Given the description of an element on the screen output the (x, y) to click on. 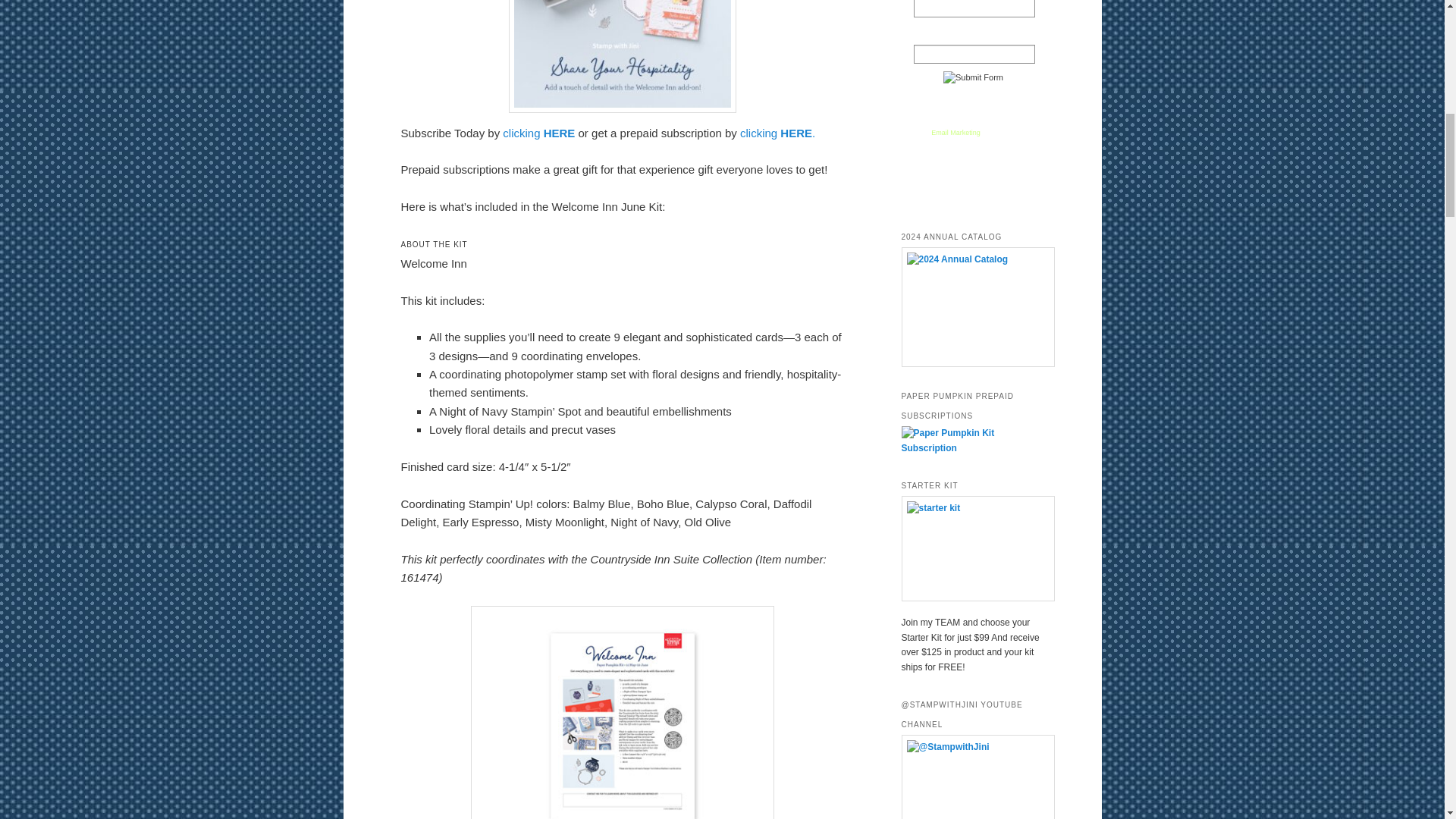
Email Marketing (955, 132)
2024 Annual Catalog  (972, 306)
starter kit (972, 548)
HERE (559, 132)
Paper Pumpkin Prepaid Subscriptions (972, 448)
 clicking  (521, 132)
clicking HERE. (777, 132)
